Given the description of an element on the screen output the (x, y) to click on. 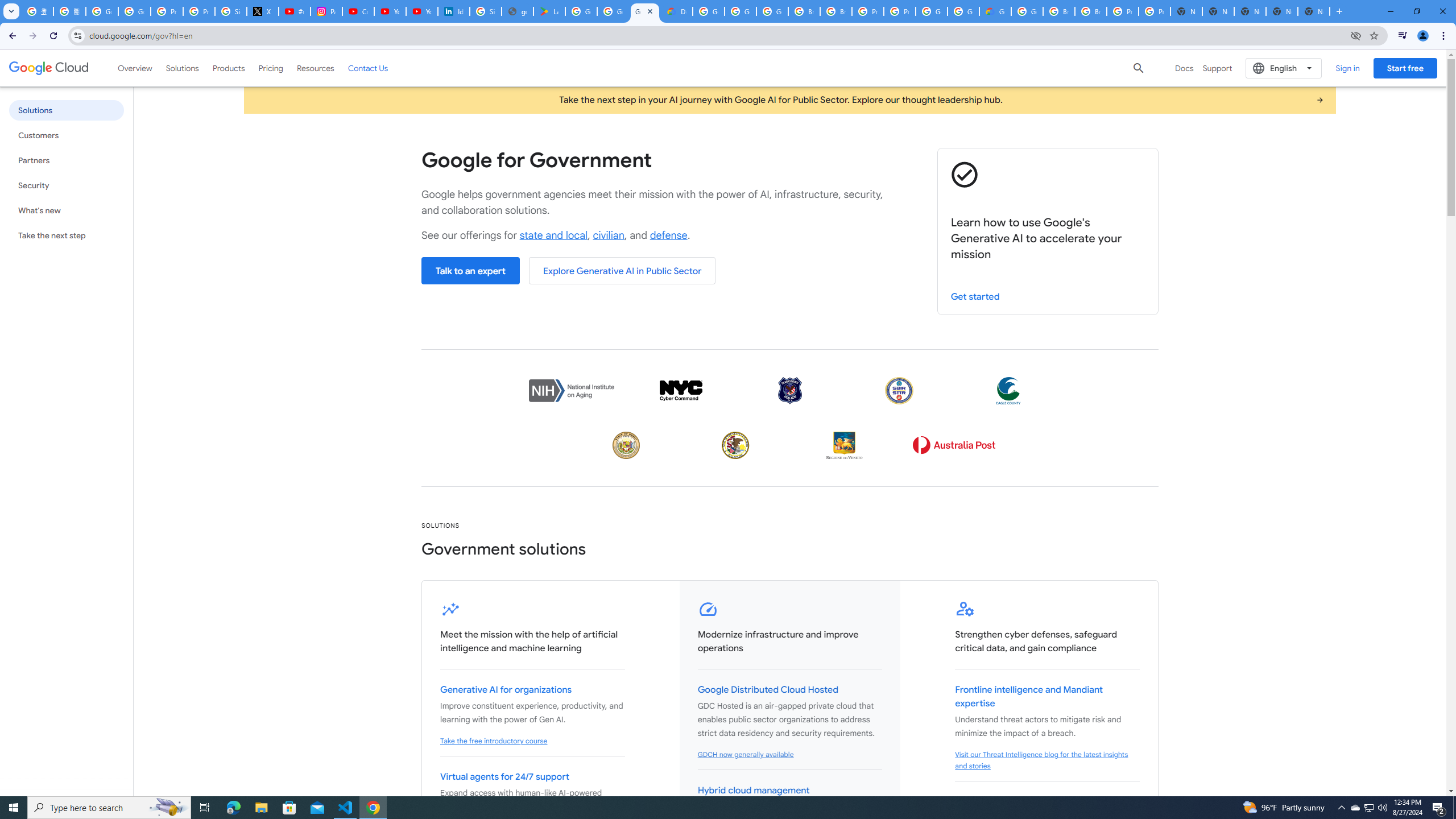
Resources (314, 67)
Privacy Help Center - Policies Help (198, 11)
Customers (65, 135)
Browse Chrome as a guest - Computer - Google Chrome Help (1059, 11)
Google Cloud Platform (963, 11)
Take the next step (65, 235)
San Joaquin County (735, 445)
GDCH now generally available (745, 754)
Browse Chrome as a guest - Computer - Google Chrome Help (804, 11)
